Given the description of an element on the screen output the (x, y) to click on. 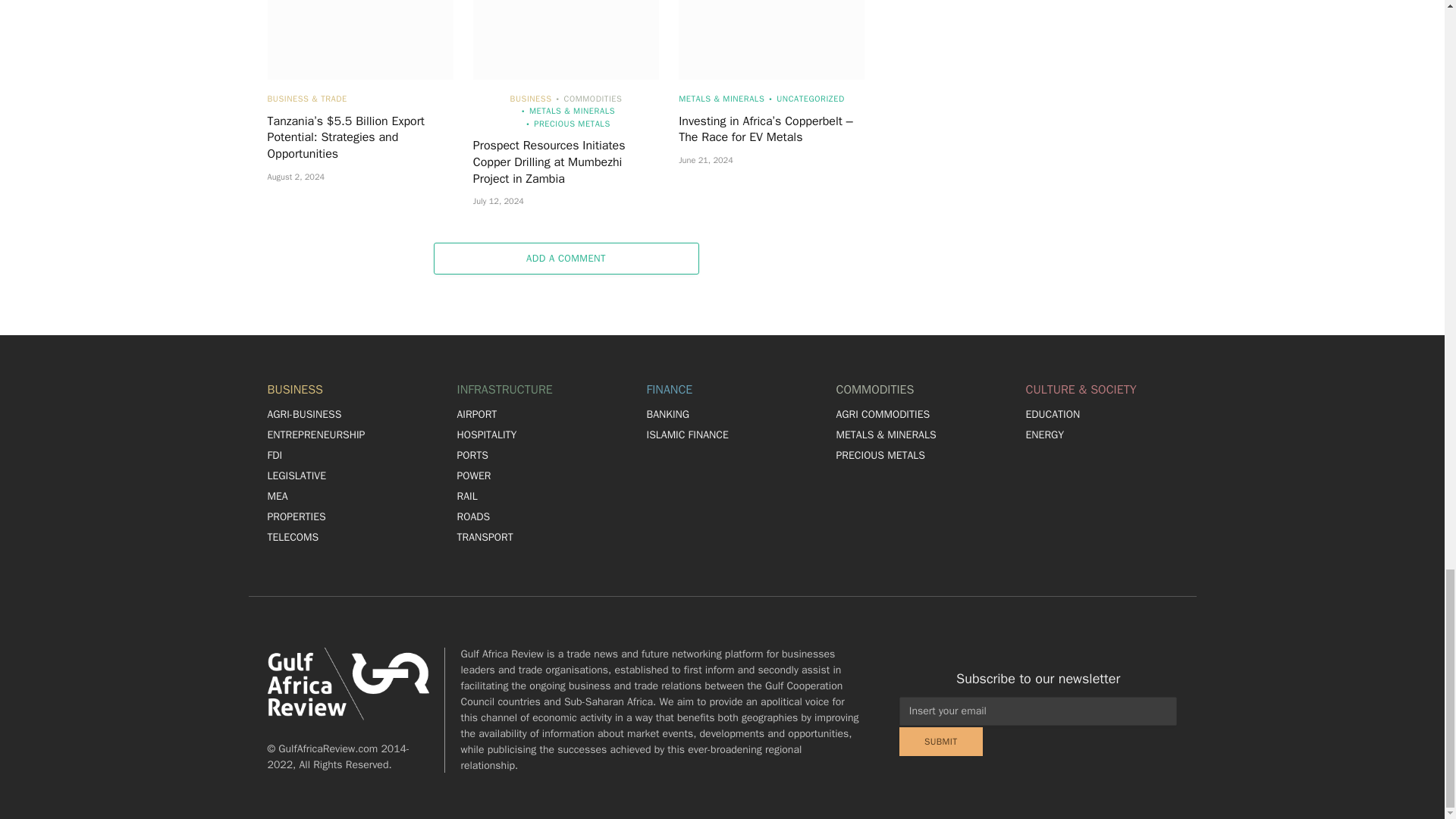
Submit (940, 741)
